Given the description of an element on the screen output the (x, y) to click on. 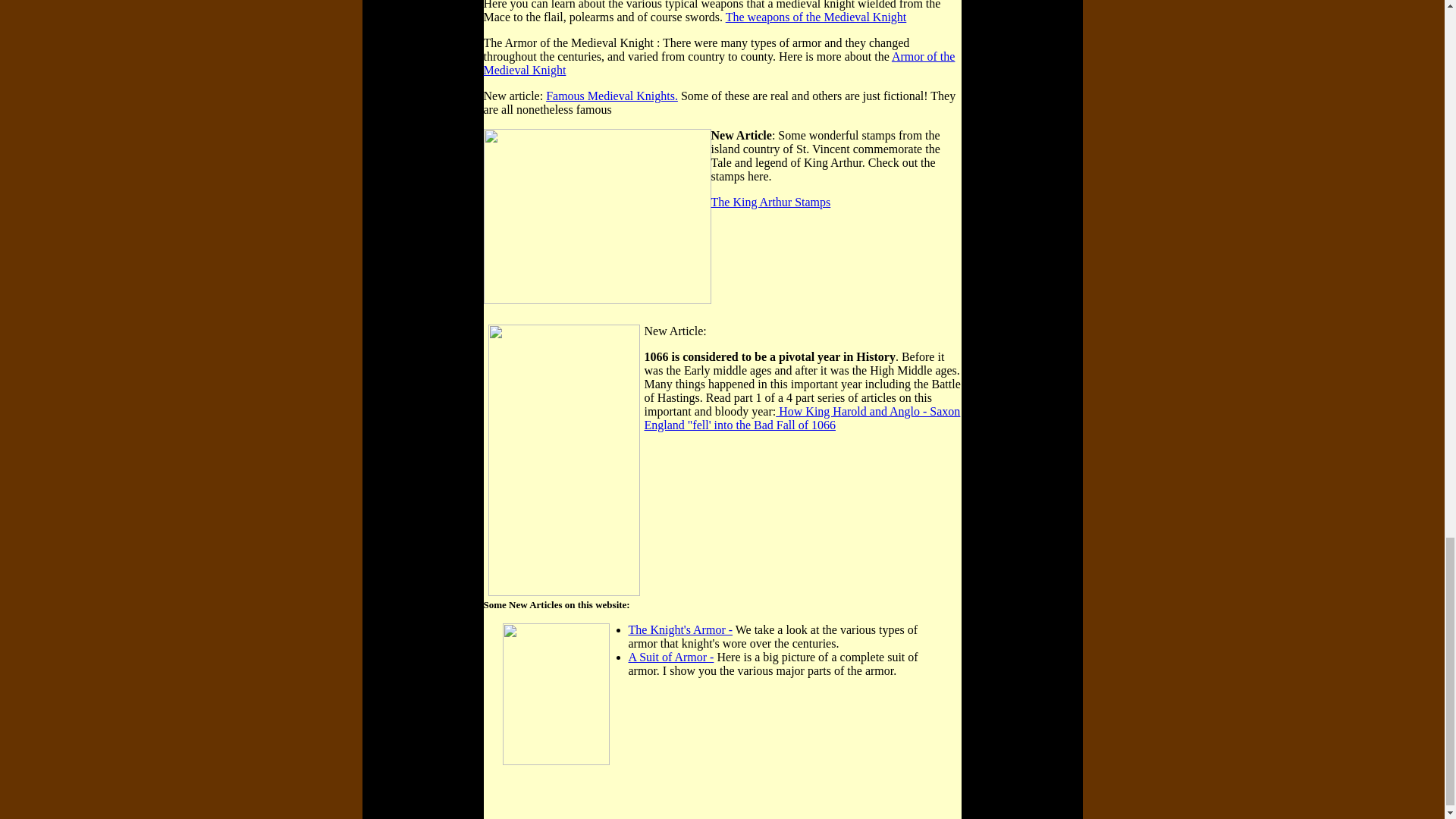
The King Arthur Stamps (771, 201)
A Suit of Armor - (670, 656)
The Knight's Armor - (679, 629)
Famous Medieval Knights. (612, 95)
Armor of the Medieval Knight (719, 62)
The weapons of the Medieval Knight (816, 16)
